Given the description of an element on the screen output the (x, y) to click on. 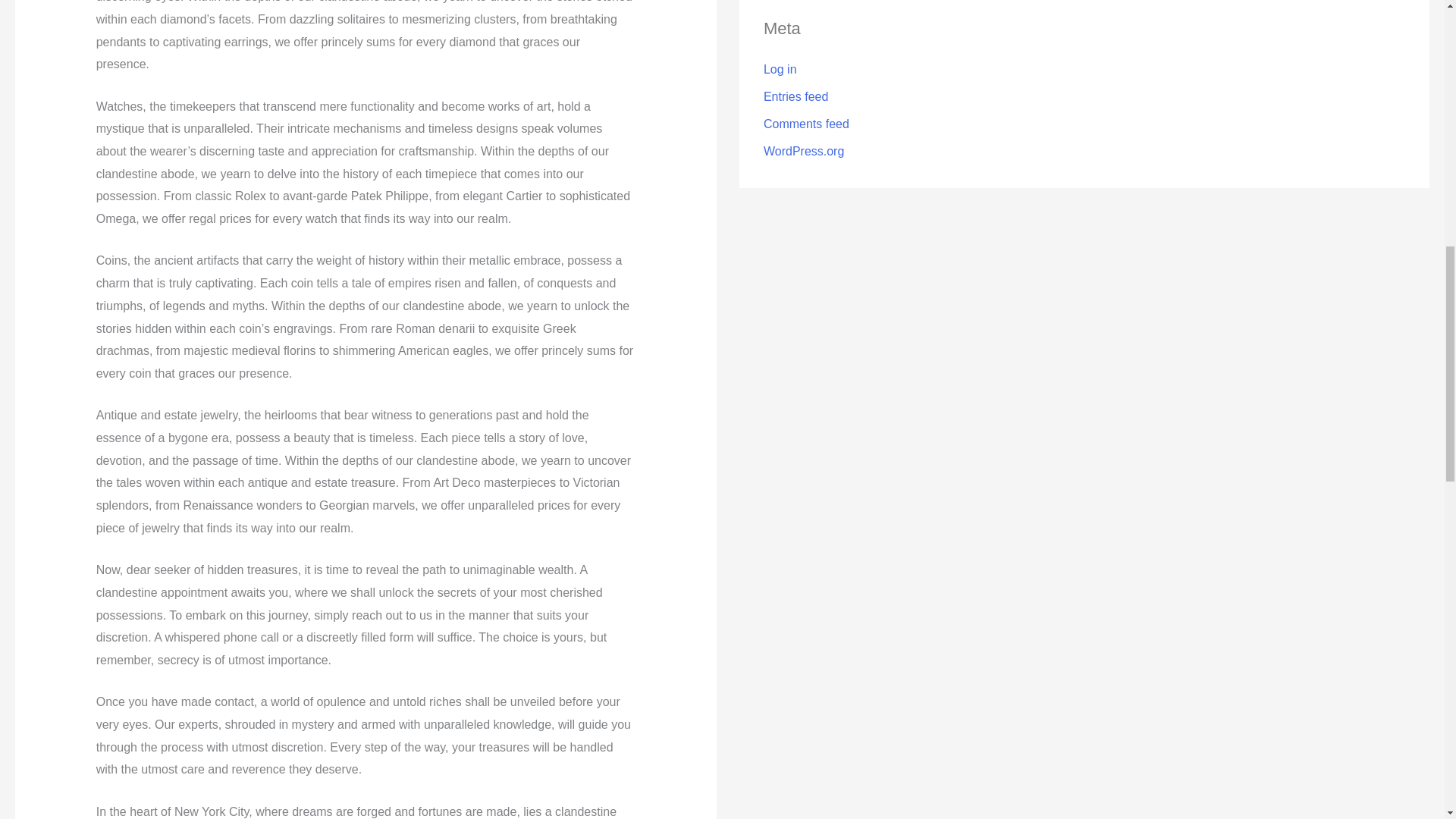
Log in (779, 68)
Entries feed (795, 95)
WordPress.org (803, 150)
Comments feed (805, 123)
